Given the description of an element on the screen output the (x, y) to click on. 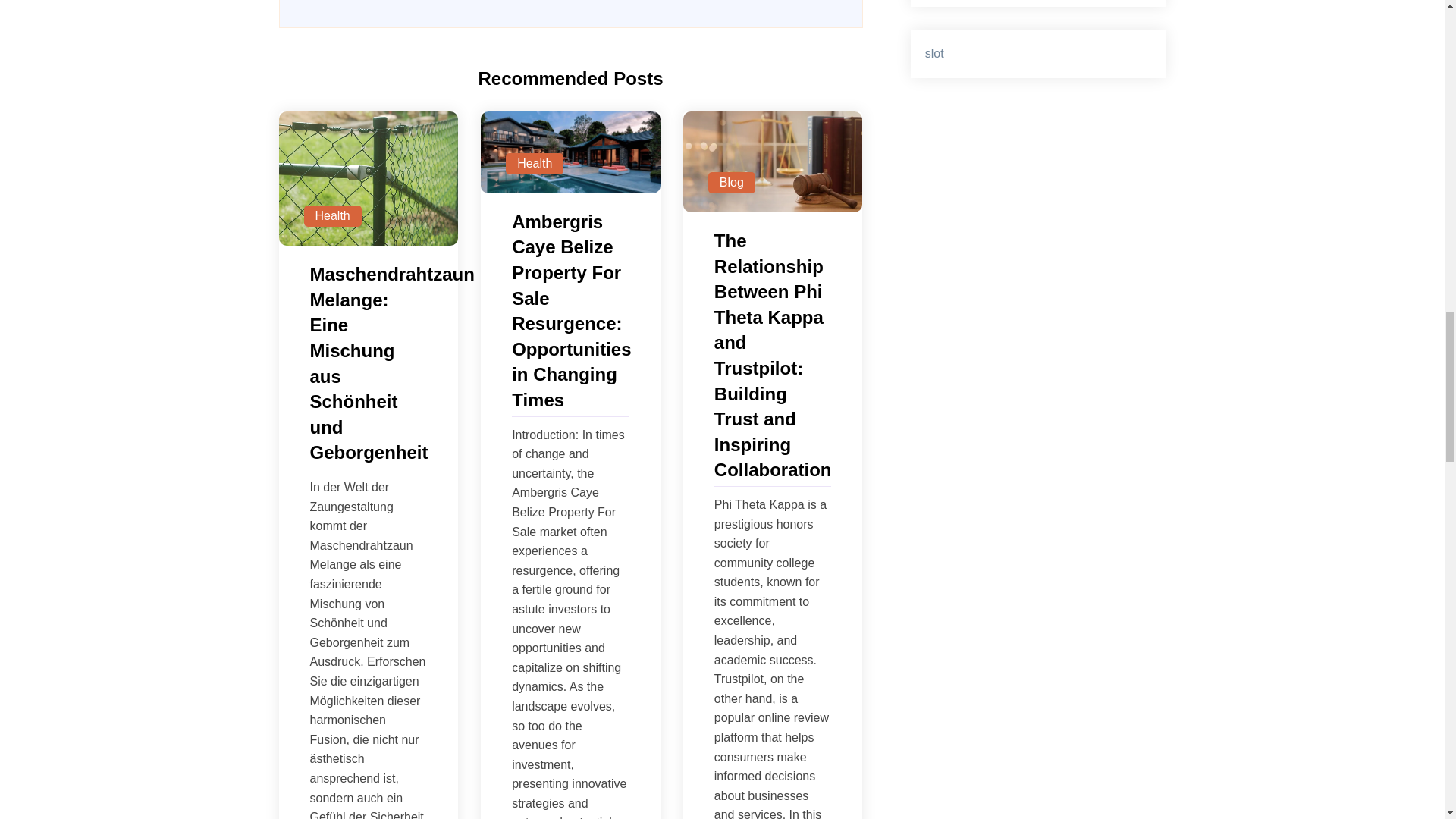
Health (331, 215)
Blog (731, 182)
Health (534, 163)
